Given the description of an element on the screen output the (x, y) to click on. 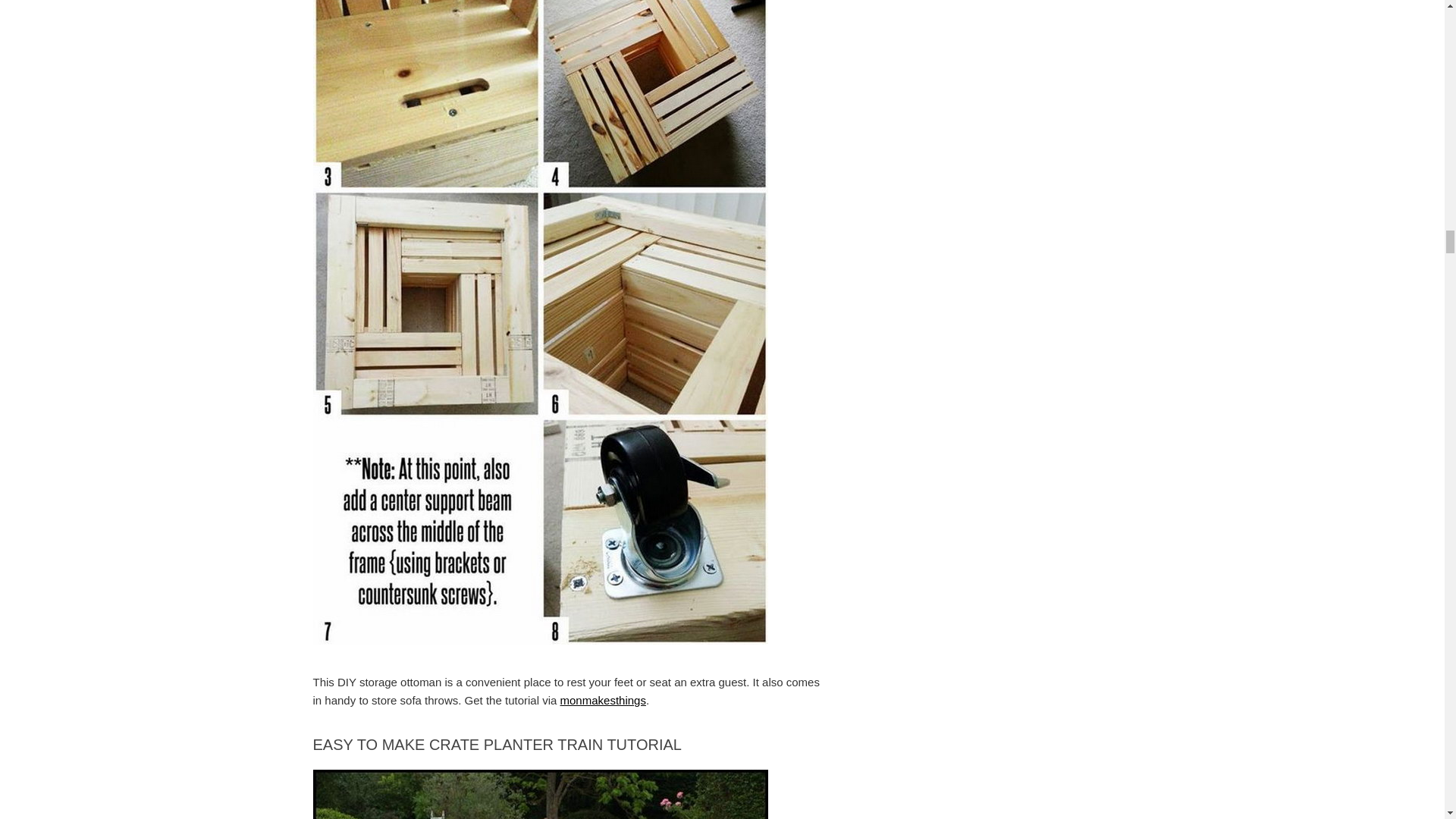
monmakesthings (603, 699)
